Given the description of an element on the screen output the (x, y) to click on. 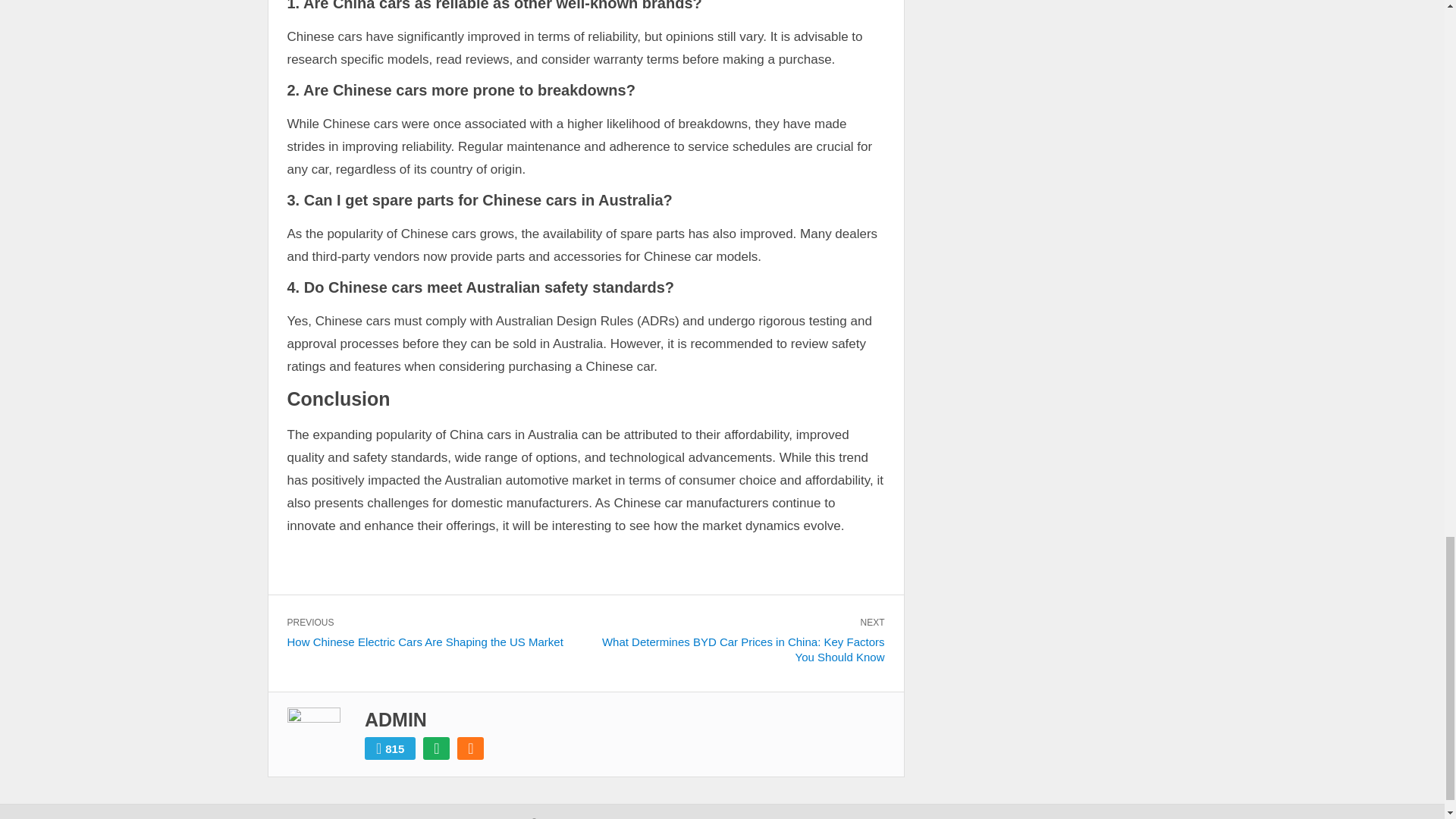
815 (389, 748)
ADMIN (395, 719)
Subscribe RSS Feed (470, 748)
WordStar (796, 818)
815 Posts (389, 748)
Posts by admin (395, 719)
Theme by Linesh Jose (866, 818)
Proudly powered by WordPress. (708, 818)
Author's Website (436, 748)
